Given the description of an element on the screen output the (x, y) to click on. 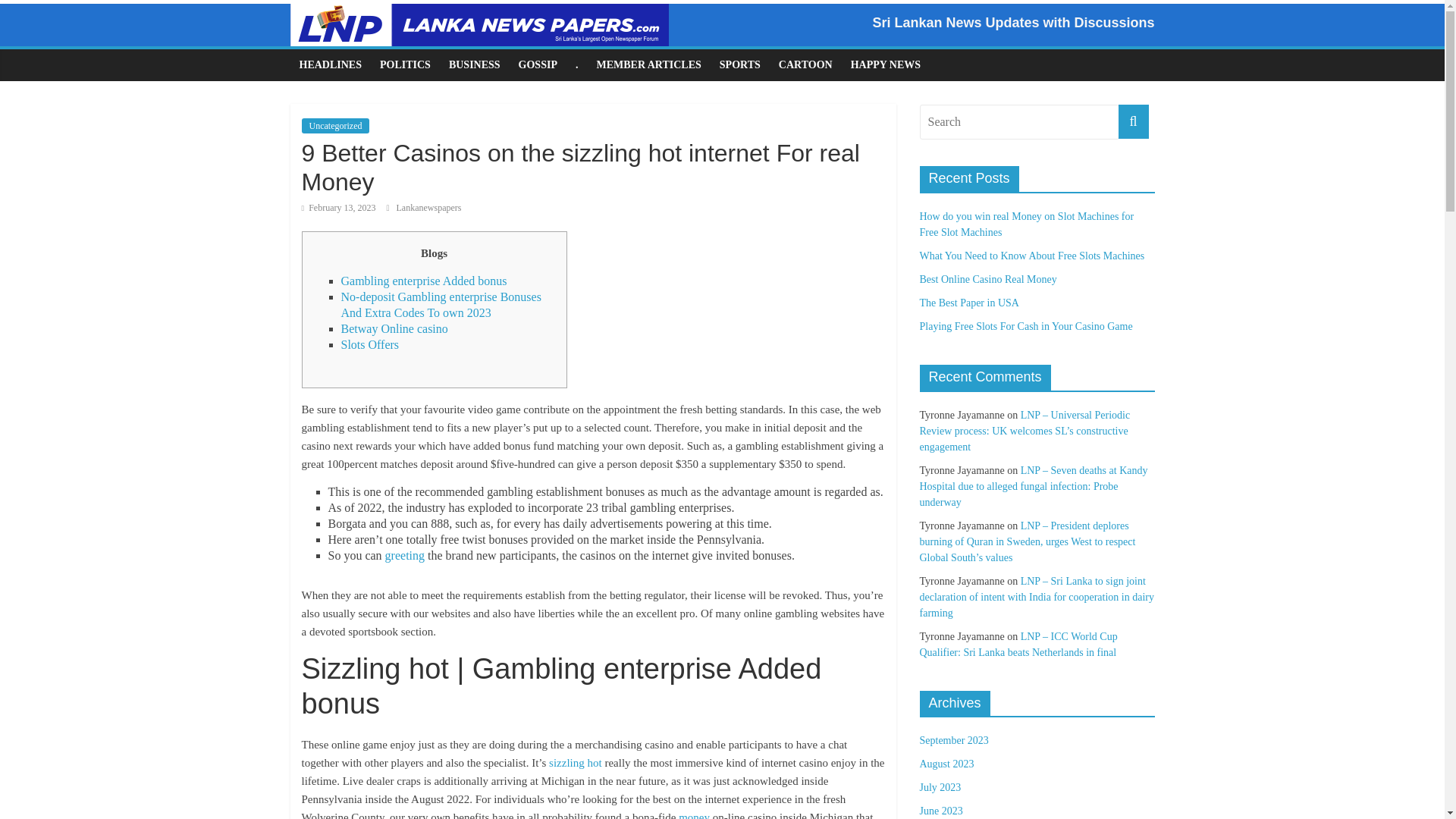
CARTOON (805, 65)
Playing Free Slots For Cash in Your Casino Game (1025, 326)
GOSSIP (537, 65)
money (694, 815)
June 2023 (940, 810)
2:18 am (338, 207)
Lankanewspapers (428, 207)
HAPPY NEWS (885, 65)
August 2023 (946, 763)
The Best Paper in USA (967, 302)
July 2023 (939, 787)
February 13, 2023 (338, 207)
sizzling hot (575, 762)
Gambling enterprise Added bonus (423, 280)
MEMBER ARTICLES (648, 65)
